Given the description of an element on the screen output the (x, y) to click on. 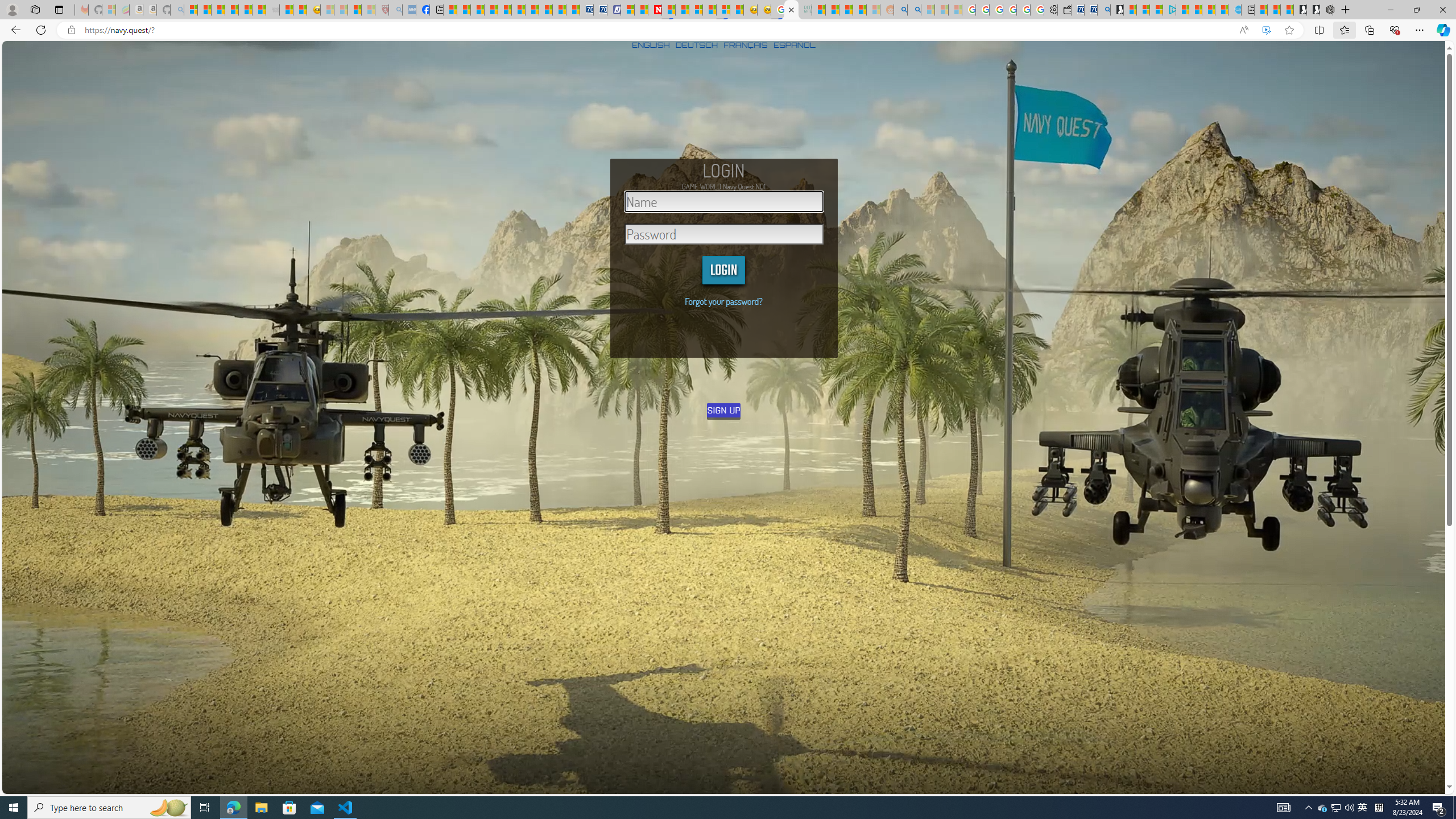
DEUTSCH (696, 44)
SIGN UP (724, 409)
Name (724, 201)
Stocks - MSN (258, 9)
New Report Confirms 2023 Was Record Hot | Watch (245, 9)
Wallet (1063, 9)
